Given the description of an element on the screen output the (x, y) to click on. 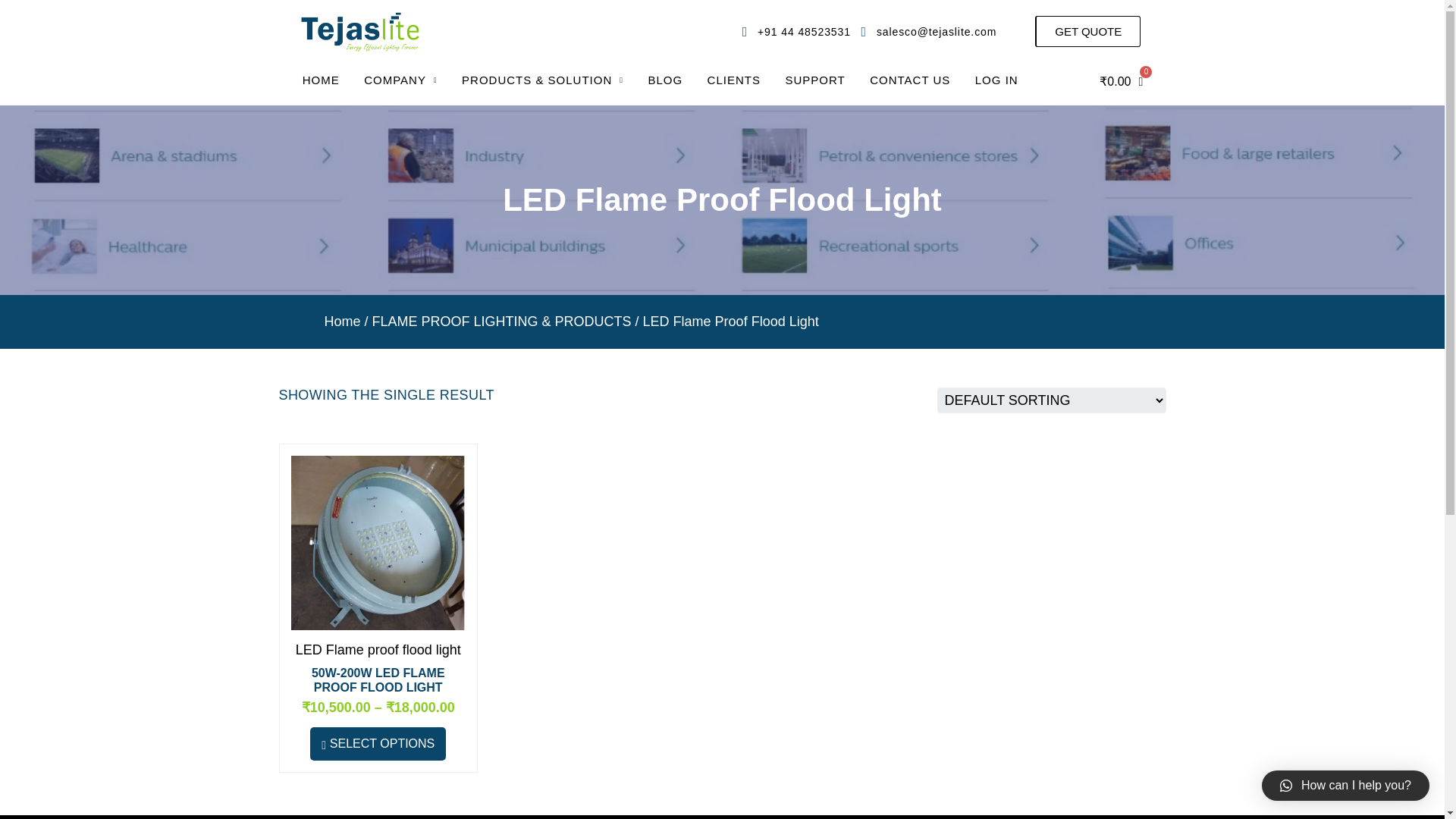
COMPANY (400, 13)
HOME (319, 8)
View your shopping cart (1123, 79)
